Given the description of an element on the screen output the (x, y) to click on. 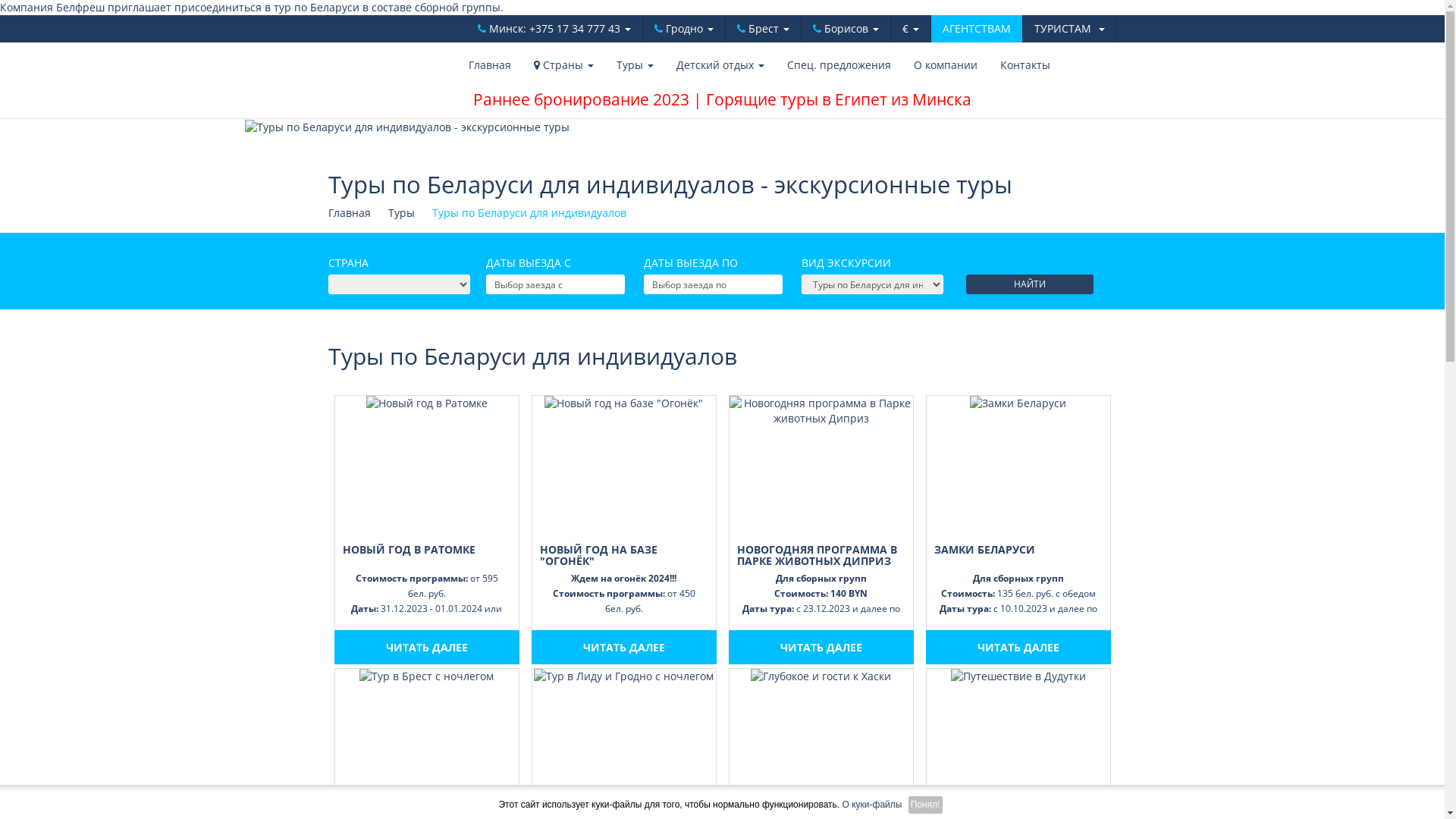
  
  Element type: text (398, 284)
